Given the description of an element on the screen output the (x, y) to click on. 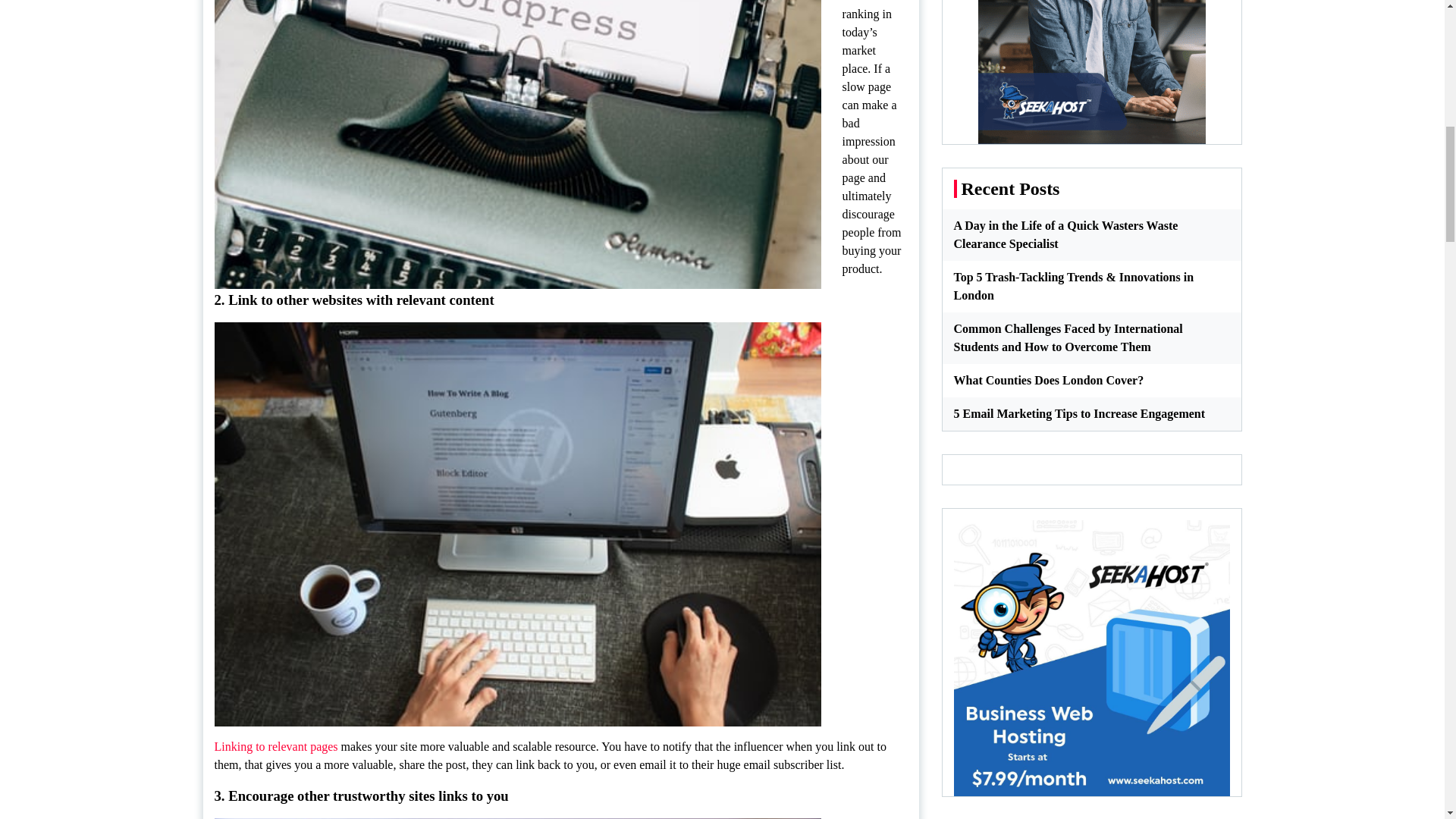
Linking to relevant pages (275, 746)
